Given the description of an element on the screen output the (x, y) to click on. 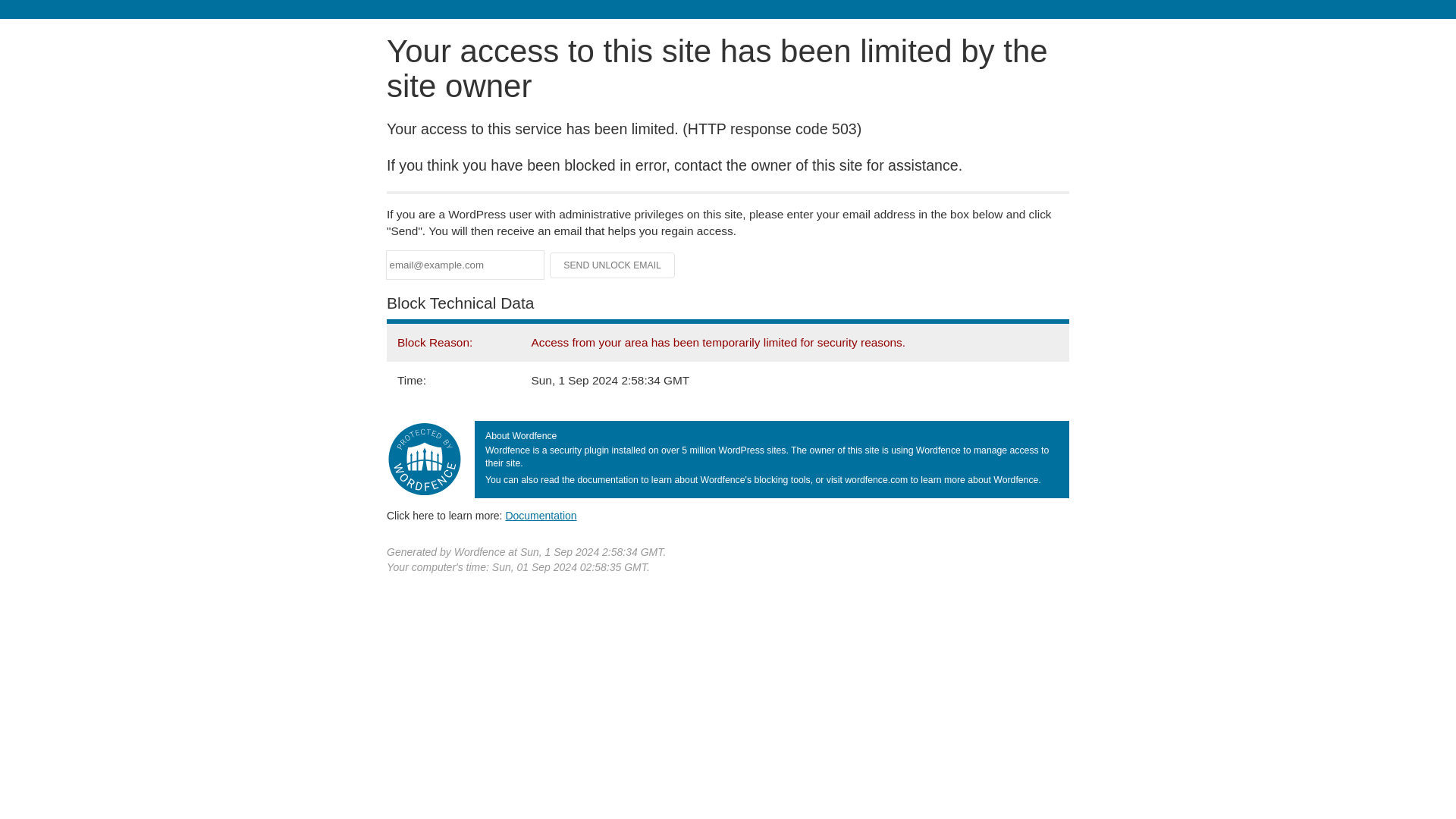
Send Unlock Email (612, 265)
Send Unlock Email (612, 265)
Documentation (540, 515)
